Given the description of an element on the screen output the (x, y) to click on. 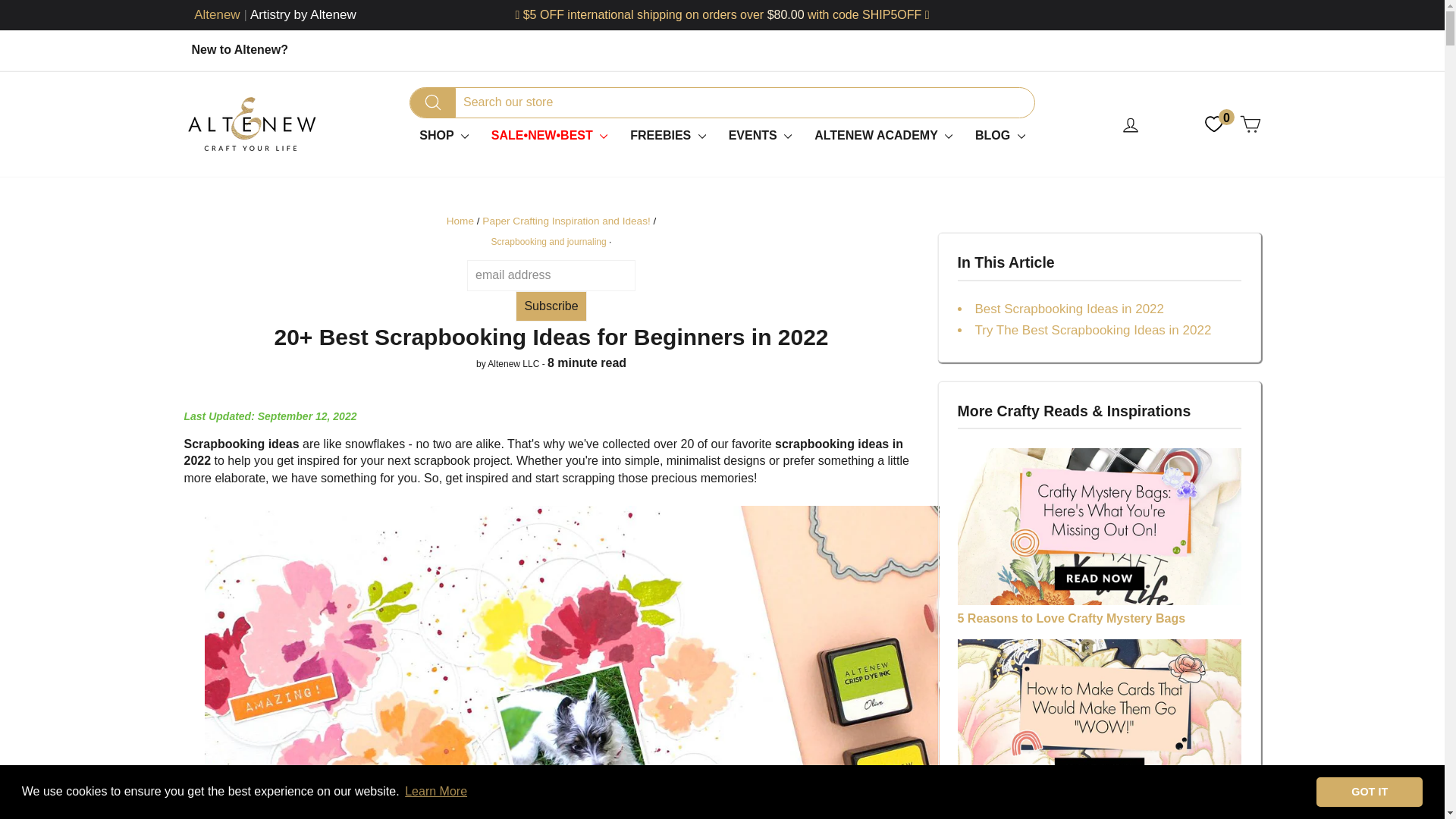
Learn More (435, 791)
Artistry by Altenew (303, 14)
GOT IT (1369, 791)
Wishlist (1213, 124)
Cart (1249, 124)
Subscribe (550, 306)
Rewards (1172, 124)
Account (1130, 124)
Back to the frontpage (460, 220)
